Given the description of an element on the screen output the (x, y) to click on. 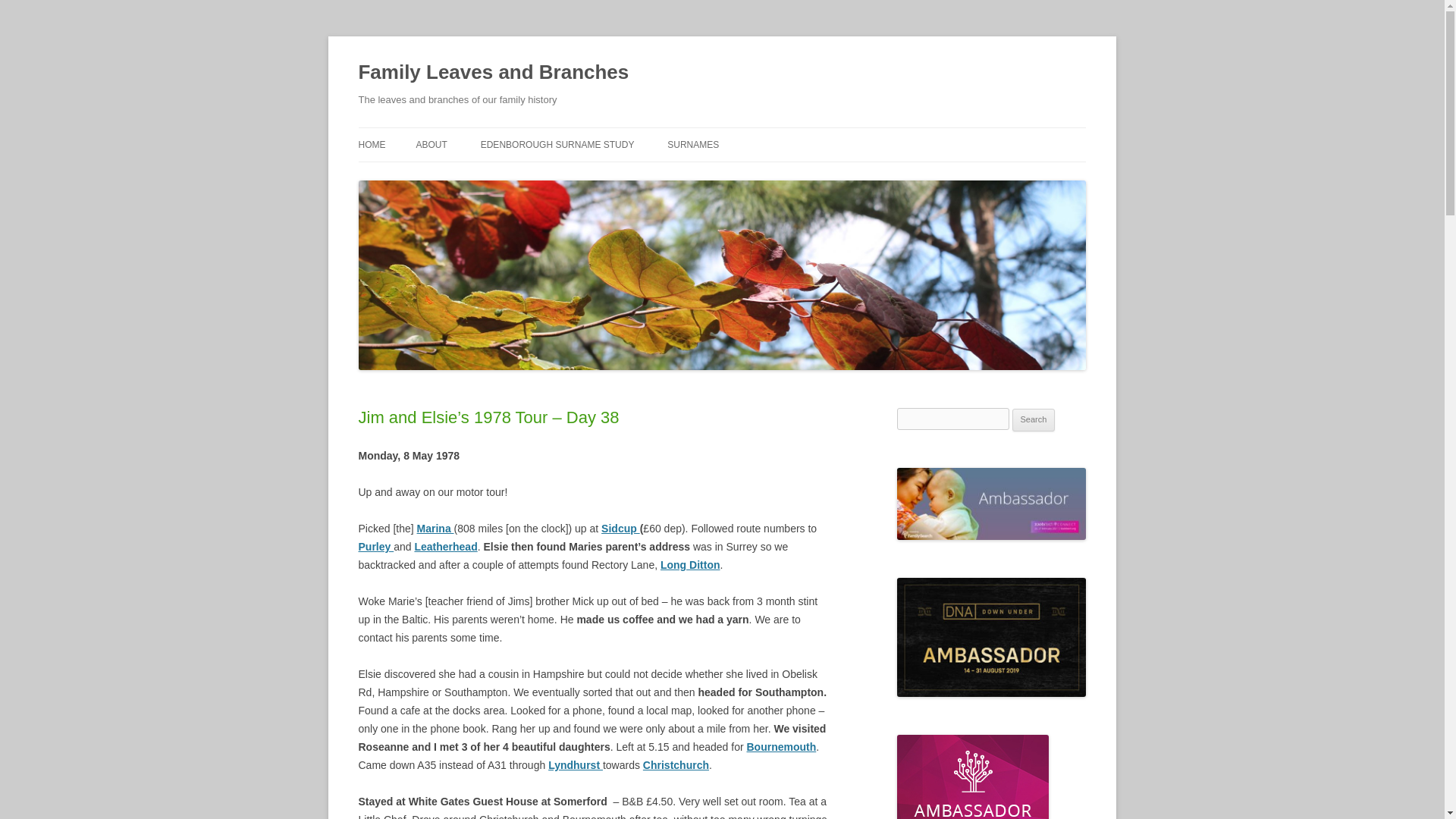
EDENBOROUGH SURNAME STUDY (557, 144)
Marina (435, 528)
Sidcup (620, 528)
Bournemouth (780, 746)
Christchurch (676, 765)
SURNAMES (692, 144)
ABOUT (430, 144)
Lyndhurst (575, 765)
Family Leaves and Branches (493, 72)
